Given the description of an element on the screen output the (x, y) to click on. 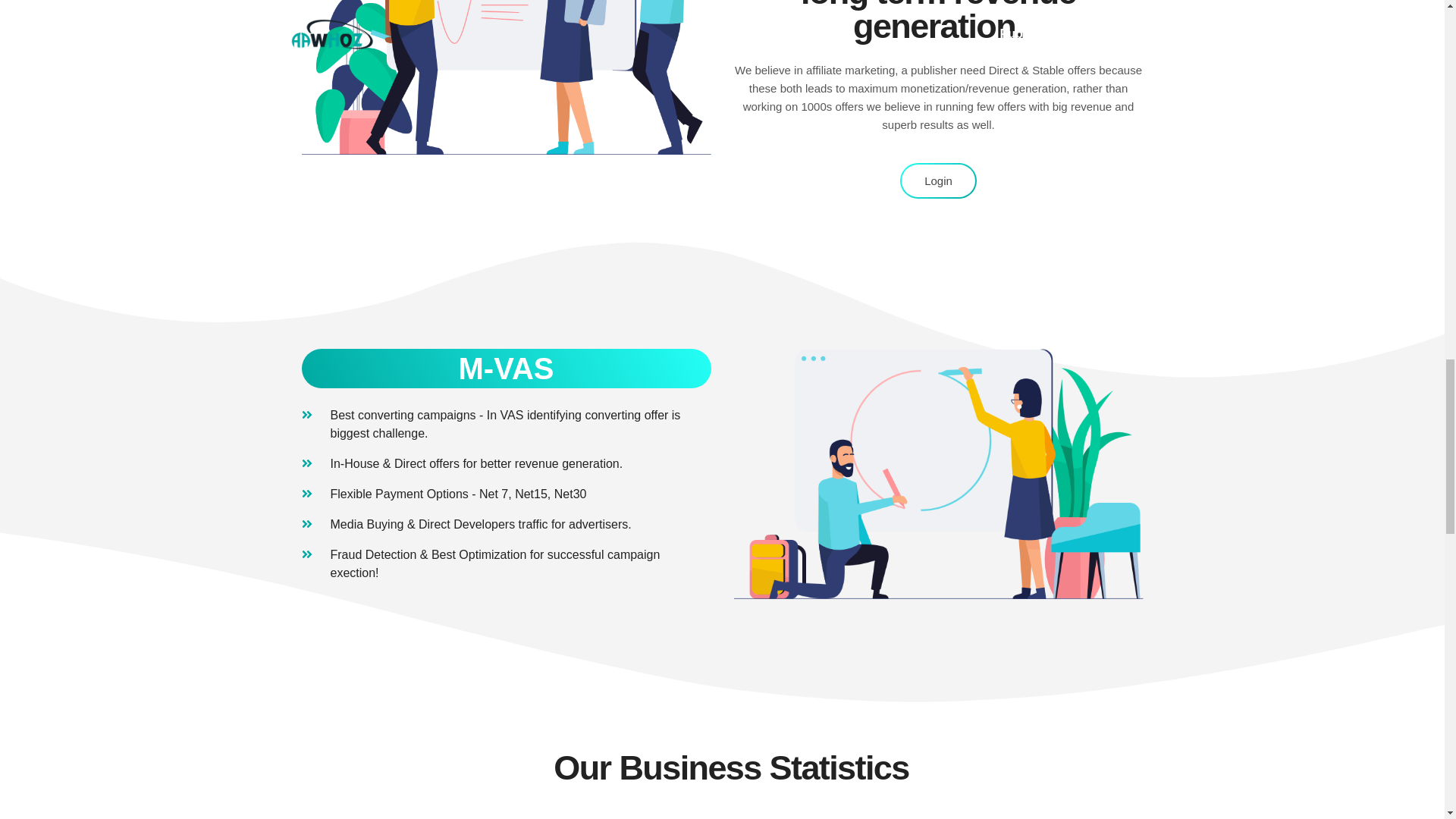
Login (938, 180)
